Given the description of an element on the screen output the (x, y) to click on. 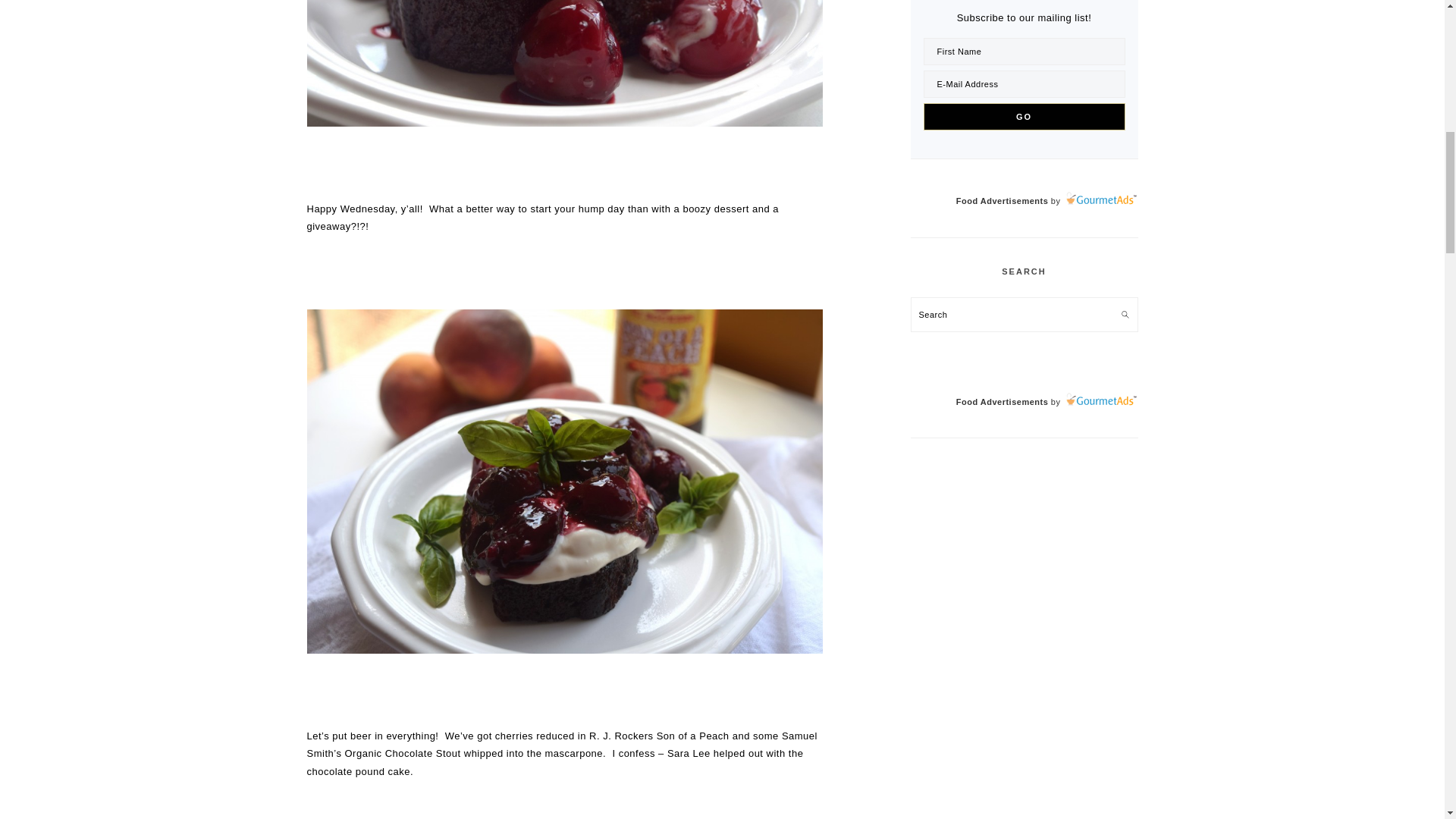
Food Advertisements (1002, 401)
Food Advertisements (1002, 200)
Go (1024, 116)
